Given the description of an element on the screen output the (x, y) to click on. 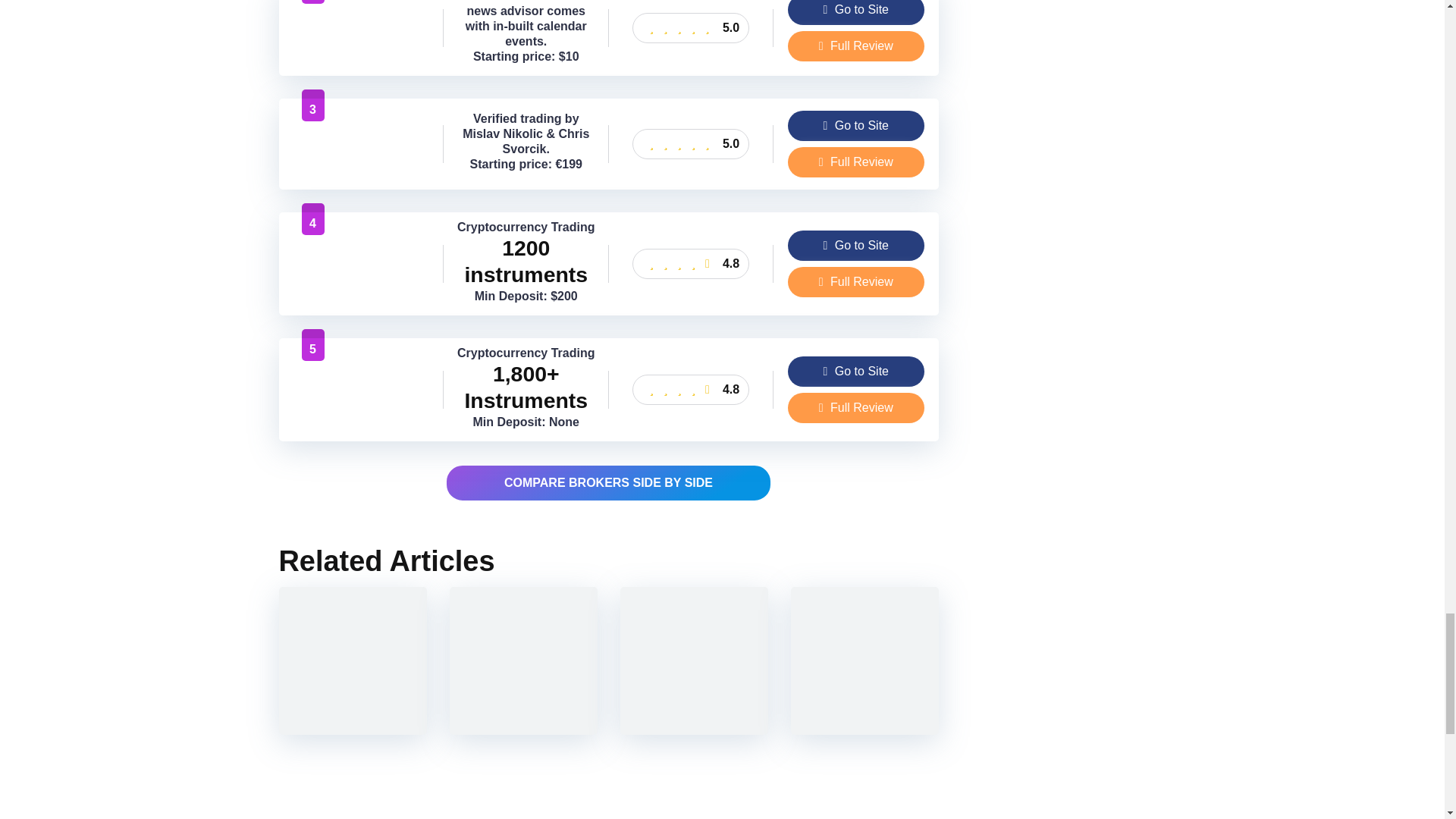
Full Review (855, 46)
Go to Site (855, 125)
Go to Site (855, 371)
Pepperstone review (360, 289)
Dow Jones News and Calendar Events Review (360, 53)
Go to Site (855, 245)
Full Review (855, 162)
XTB Review (360, 415)
Go to Site (855, 12)
Full Review (855, 281)
Full Review (855, 408)
COMPARE BROKERS SIDE BY SIDE (608, 483)
Go to Site (855, 245)
Go to Site (855, 371)
Full Review (855, 281)
